Given the description of an element on the screen output the (x, y) to click on. 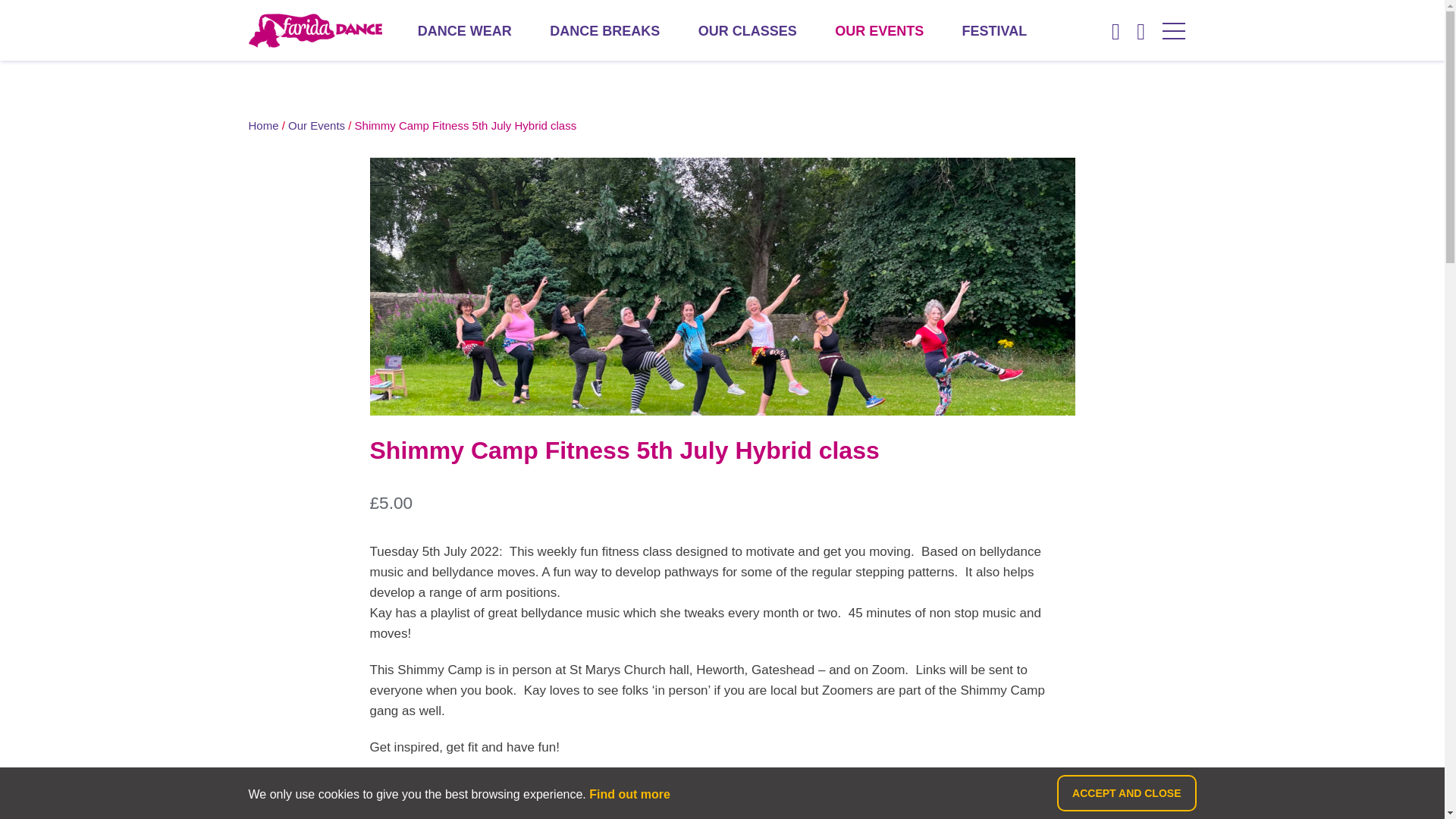
Our Classes (747, 30)
Dance Wear (464, 30)
Dance Breaks (604, 30)
Our Events (878, 30)
Farida Dance (314, 30)
OUR CLASSES (747, 30)
Our Events (316, 124)
DANCE WEAR (464, 30)
DANCE BREAKS (604, 30)
FESTIVAL (994, 30)
